Given the description of an element on the screen output the (x, y) to click on. 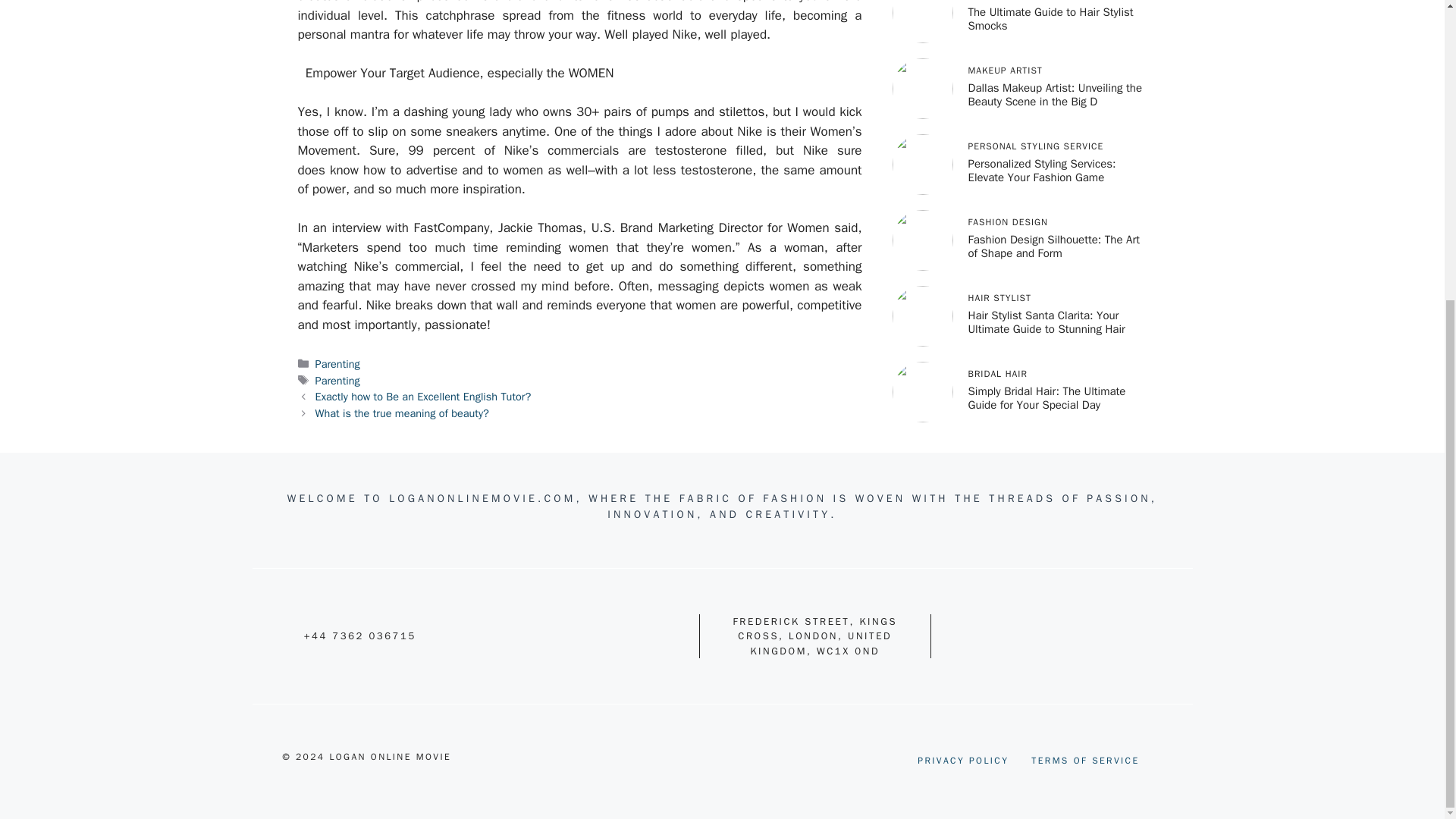
The Ultimate Guide to Hair Stylist Smocks (1050, 6)
TERMS OF SERVICE (1084, 760)
PRIVACY POLICY (963, 760)
Personalized Styling Services: Elevate Your Fashion Game (1041, 150)
Parenting (337, 380)
Fashion Design Silhouette: The Art of Shape and Form (1053, 226)
What is the true meaning of beauty? (402, 413)
Parenting (337, 364)
Simply Bridal Hair: The Ultimate Guide for Your Special Day (1046, 378)
Exactly how to Be an Excellent English Tutor? (423, 396)
